Given the description of an element on the screen output the (x, y) to click on. 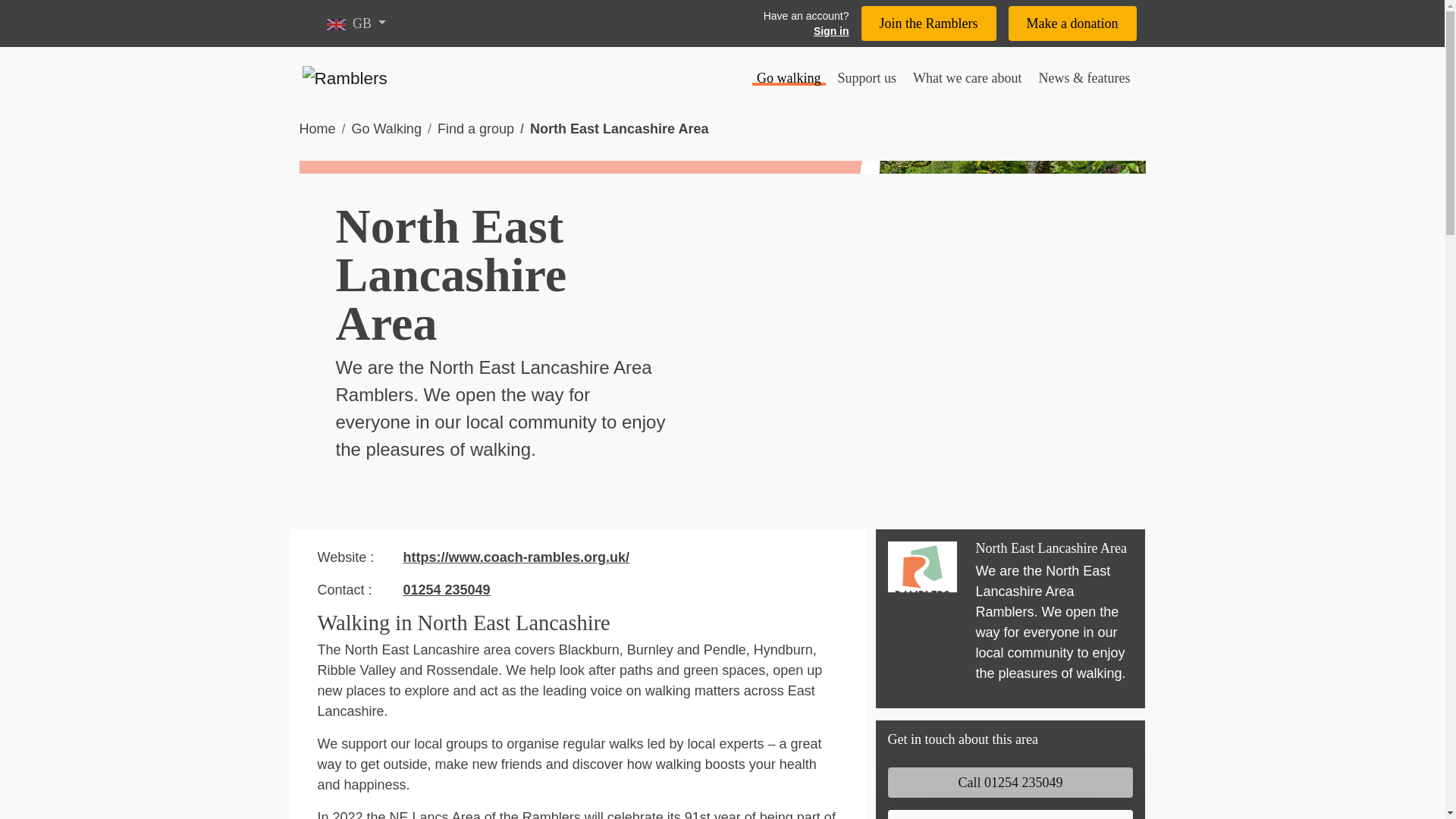
Get in touch about this area (961, 739)
Home (316, 128)
Make a donation (1073, 22)
Join the Ramblers (928, 22)
Find a group (475, 128)
What we care about (967, 77)
Go Walking (387, 128)
Call 01254 235049 (1009, 782)
Go walking (788, 77)
Email (1009, 814)
